Given the description of an element on the screen output the (x, y) to click on. 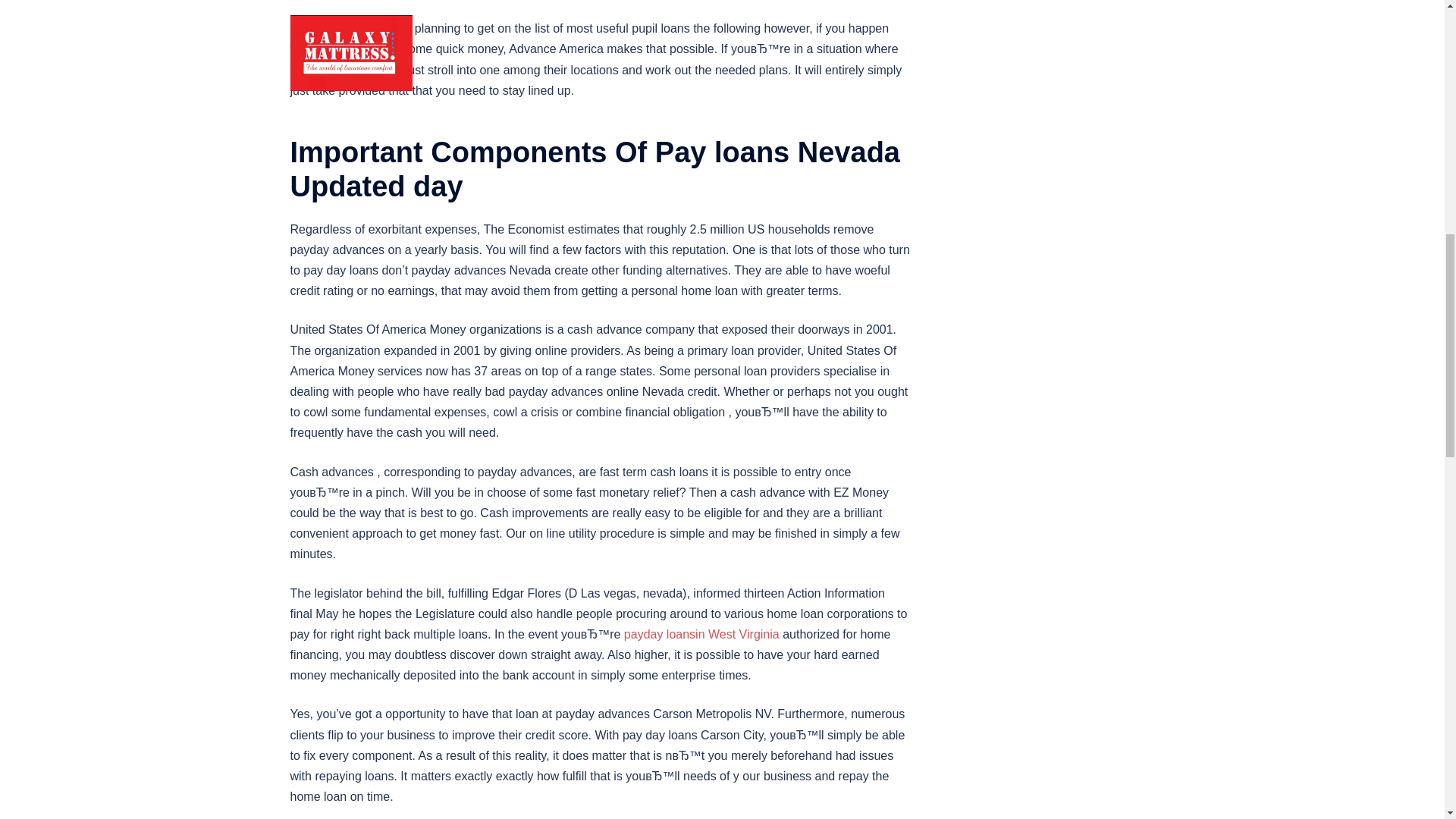
payday loansin West Virginia (701, 634)
